Given the description of an element on the screen output the (x, y) to click on. 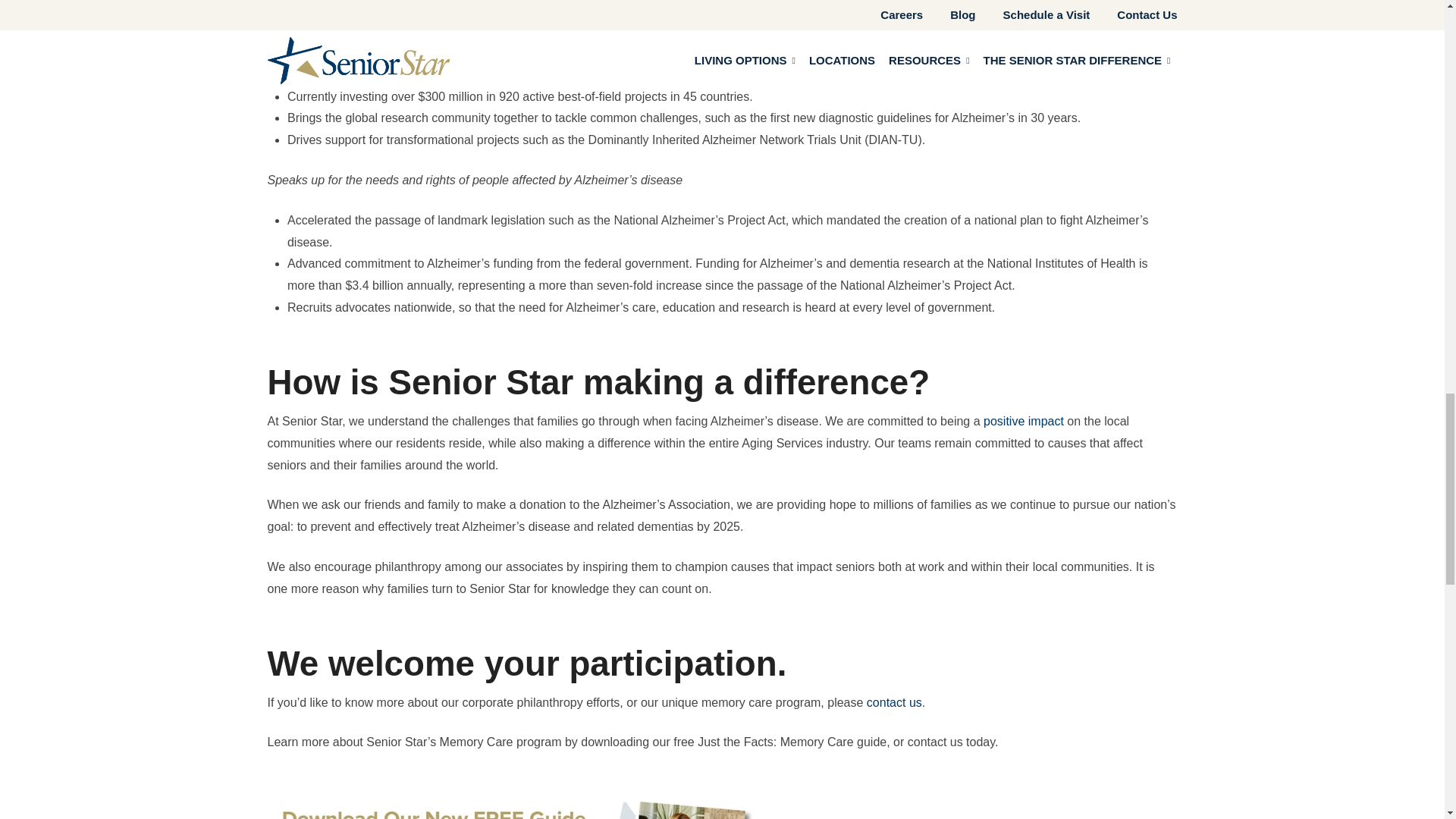
contact us (893, 702)
positive impact (1024, 420)
